Given the description of an element on the screen output the (x, y) to click on. 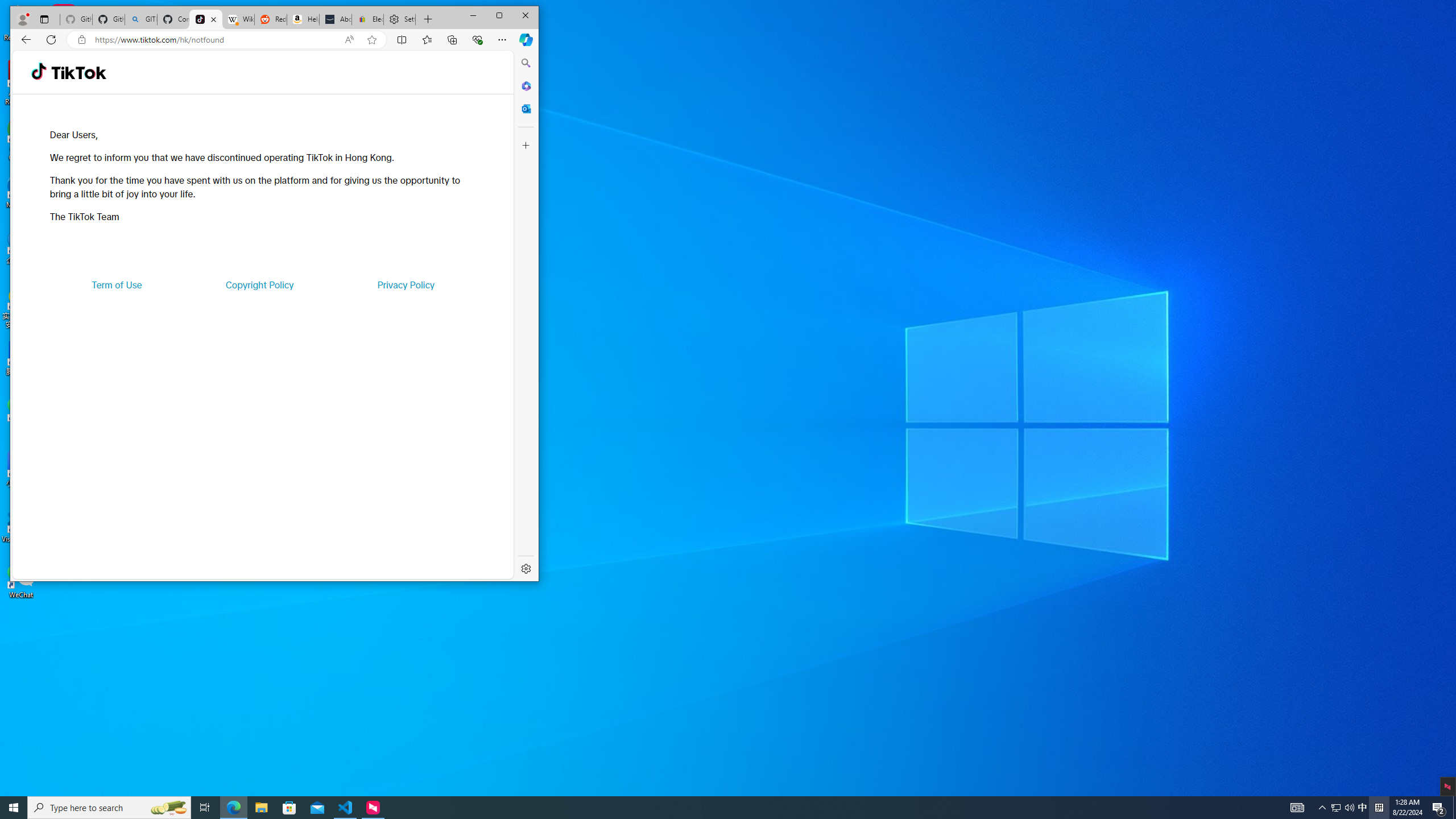
Microsoft Store (289, 807)
TikTok (1335, 807)
User Promoted Notification Area (78, 72)
GITHUB - Search (1342, 807)
Type here to search (140, 19)
About Amazon (108, 807)
